Given the description of an element on the screen output the (x, y) to click on. 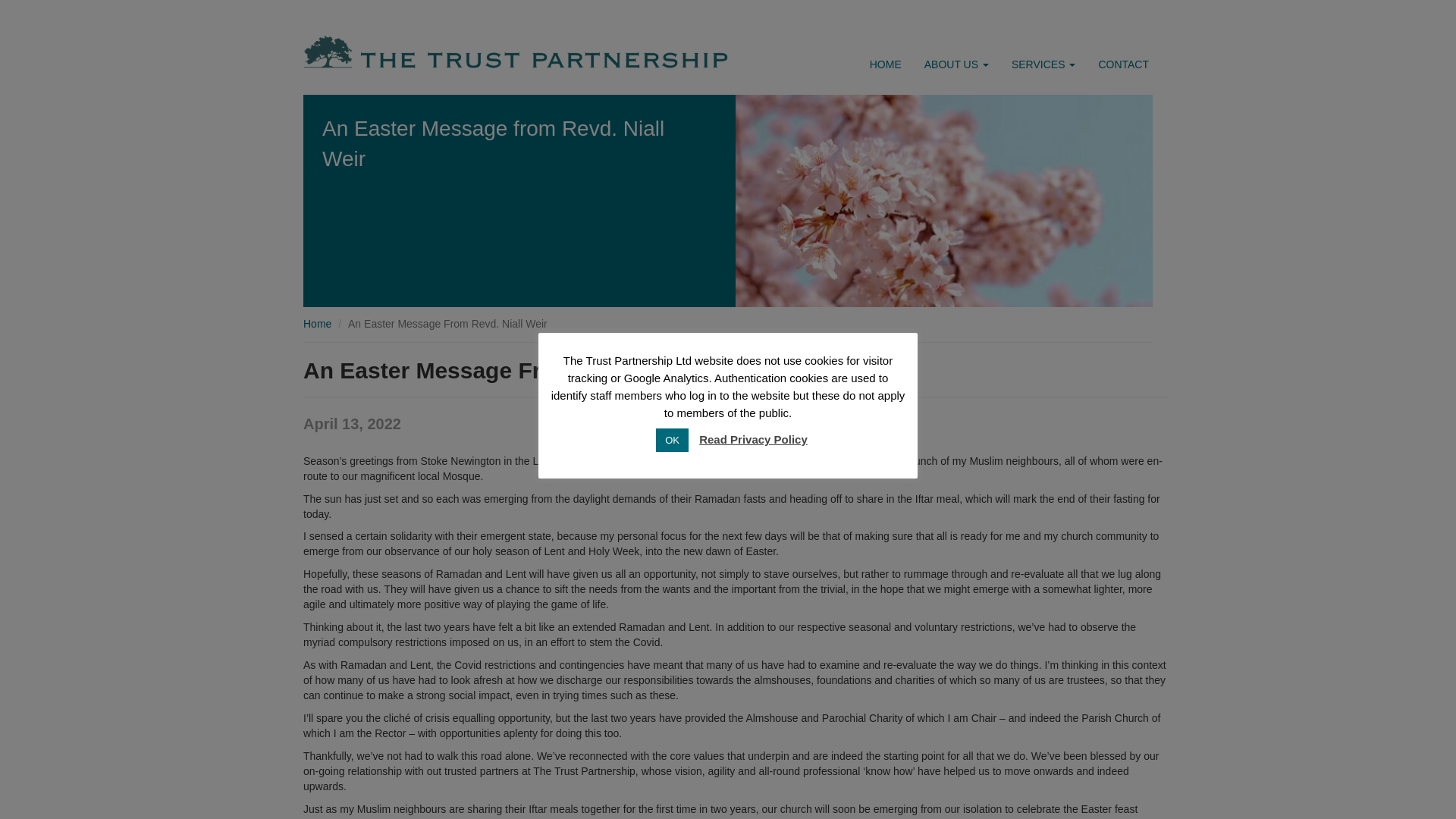
Wednesday, April 13, 2022, 4:19 pm (351, 423)
Home (316, 323)
ABOUT US (956, 64)
SERVICES (1043, 64)
CONTACT (1123, 64)
OK (672, 440)
Read Privacy Policy (753, 439)
The Trust Partnership (316, 323)
HOME (885, 64)
